Given the description of an element on the screen output the (x, y) to click on. 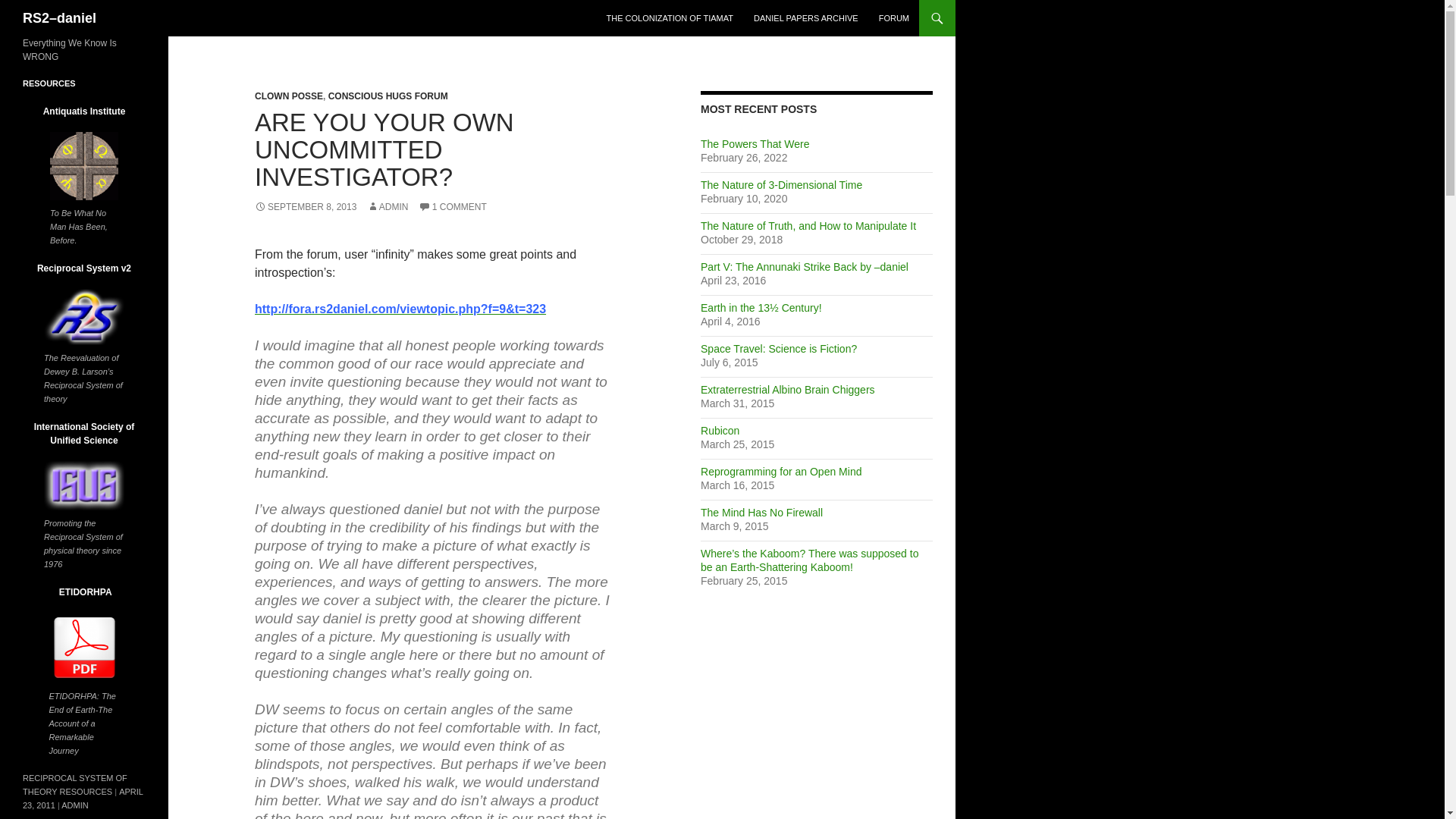
RESOURCES (49, 82)
Editorhpa (83, 647)
CONSCIOUS HUGS FORUM (388, 95)
The Powers That Were (754, 143)
Space Travel: Science is Fiction? (778, 348)
RECIPROCAL SYSTEM OF THEORY RESOURCES (75, 784)
ADMIN (387, 206)
Rubicon (719, 430)
ISUS website (83, 485)
The Nature of Truth, and How to Manipulate It (807, 225)
THE COLONIZATION OF TIAMAT (669, 18)
Antiquatis Institute (83, 165)
Reprogramming for an Open Mind (780, 471)
DANIEL PAPERS ARCHIVE (805, 18)
SEPTEMBER 8, 2013 (305, 206)
